Given the description of an element on the screen output the (x, y) to click on. 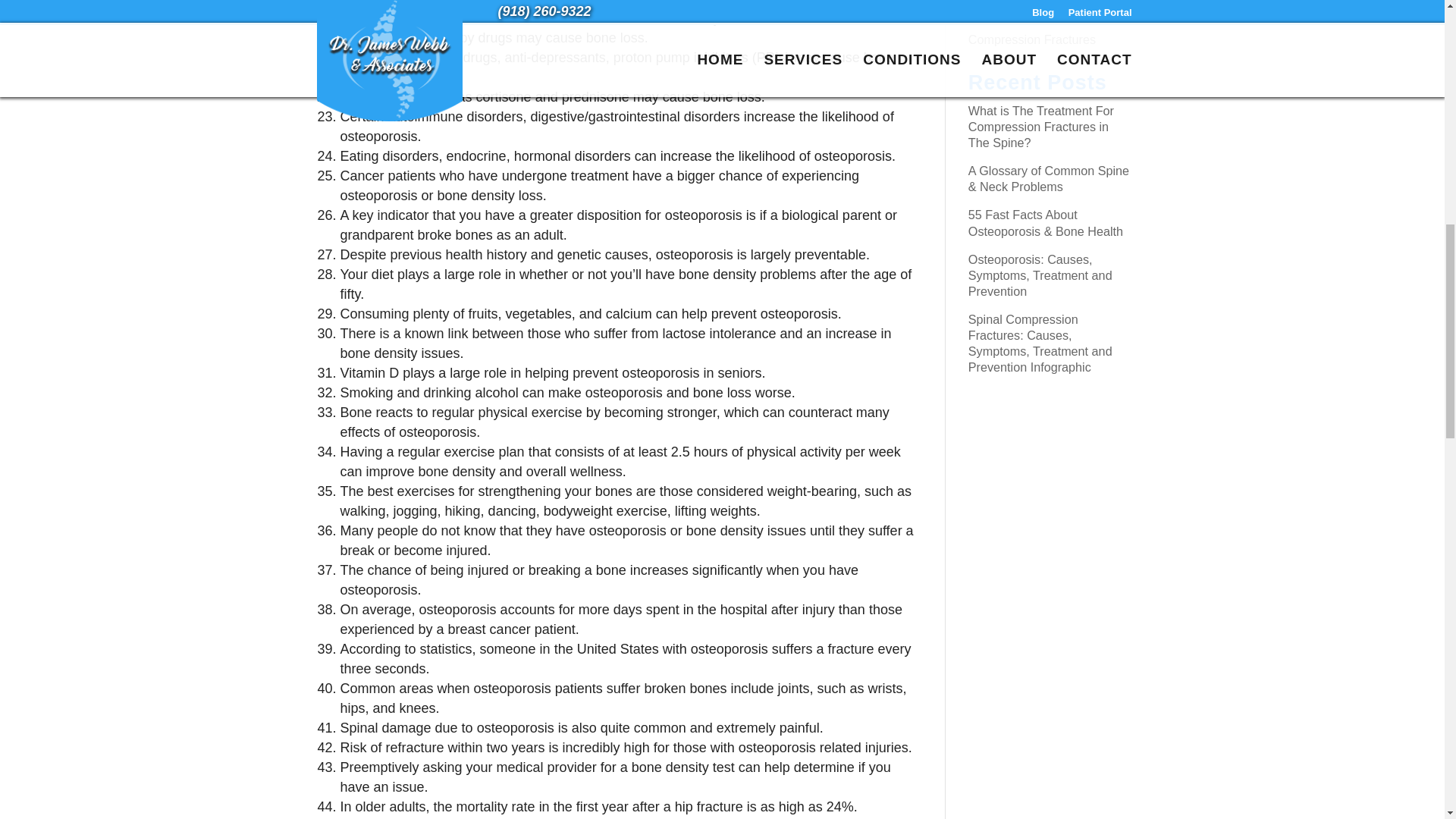
Compression Fractures (1032, 38)
Osteoporosis: Causes, Symptoms, Treatment and Prevention (1040, 275)
Spine Problems (1011, 11)
